Given the description of an element on the screen output the (x, y) to click on. 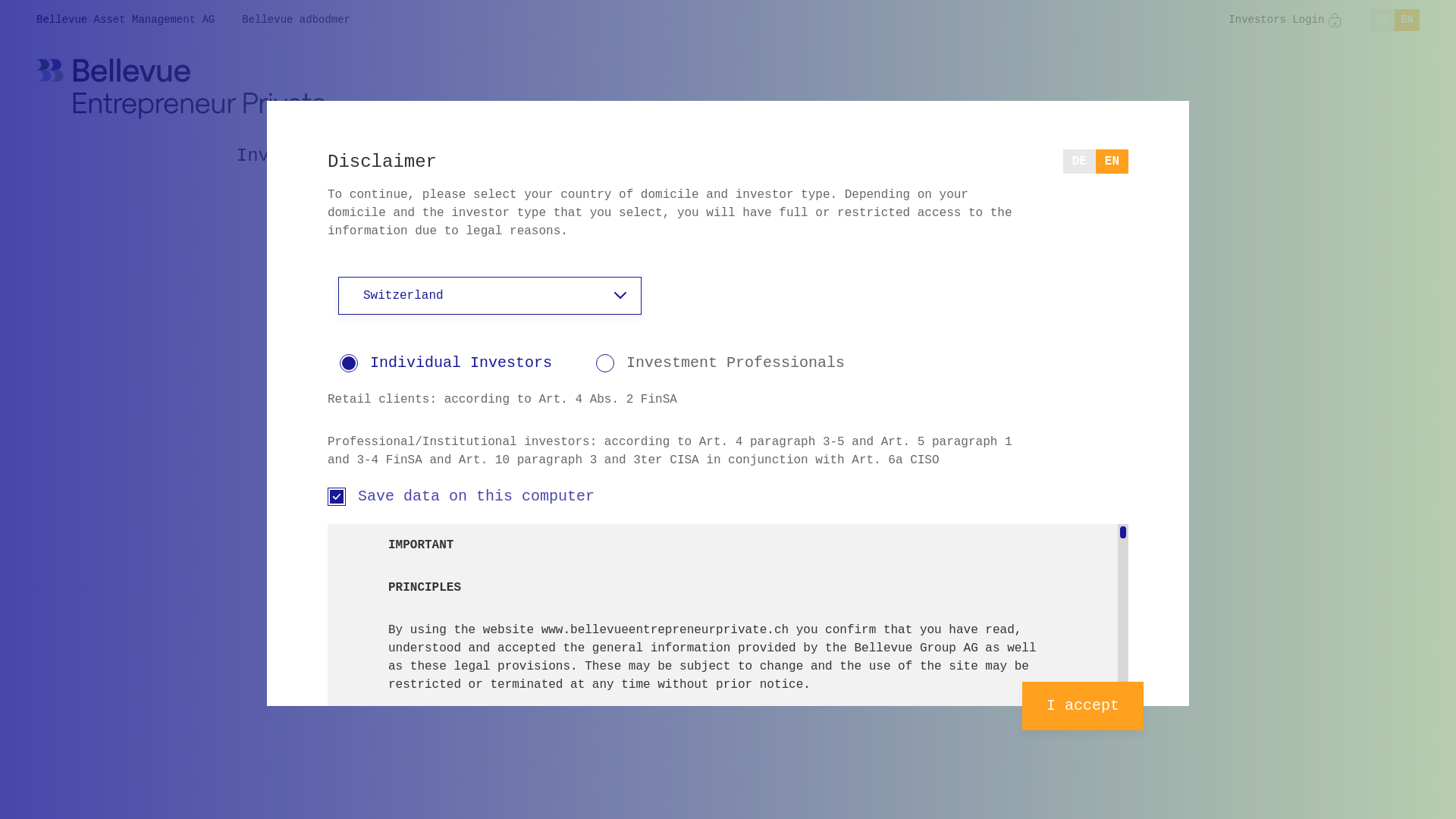
DE Element type: text (1381, 20)
BB Entrepreneur Private Element type: text (181, 88)
I accept Element type: text (1082, 705)
Bellevue adbodmer Element type: text (295, 19)
EN Element type: text (1406, 20)
About us Element type: text (808, 155)
EN Element type: text (1111, 161)
Investment focus Element type: text (323, 155)
DE Element type: text (1079, 161)
Bellevue Asset Management AG Element type: text (125, 19)
Investors Login Element type: text (1285, 20)
Contact Element type: text (1051, 155)
